Given the description of an element on the screen output the (x, y) to click on. 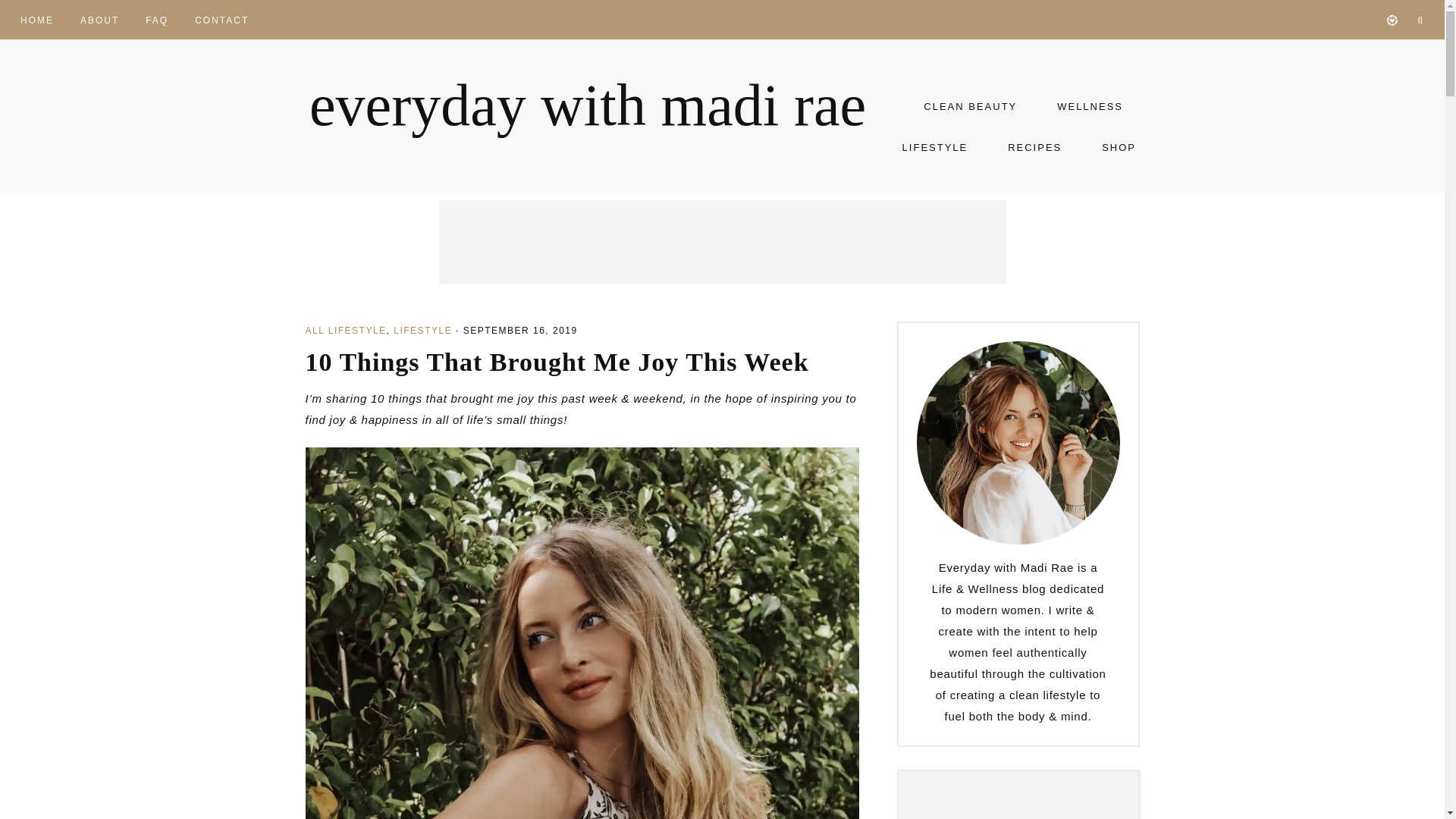
HOME (36, 18)
CONTACT (221, 18)
ABOUT (99, 18)
FAQ (156, 18)
